Given the description of an element on the screen output the (x, y) to click on. 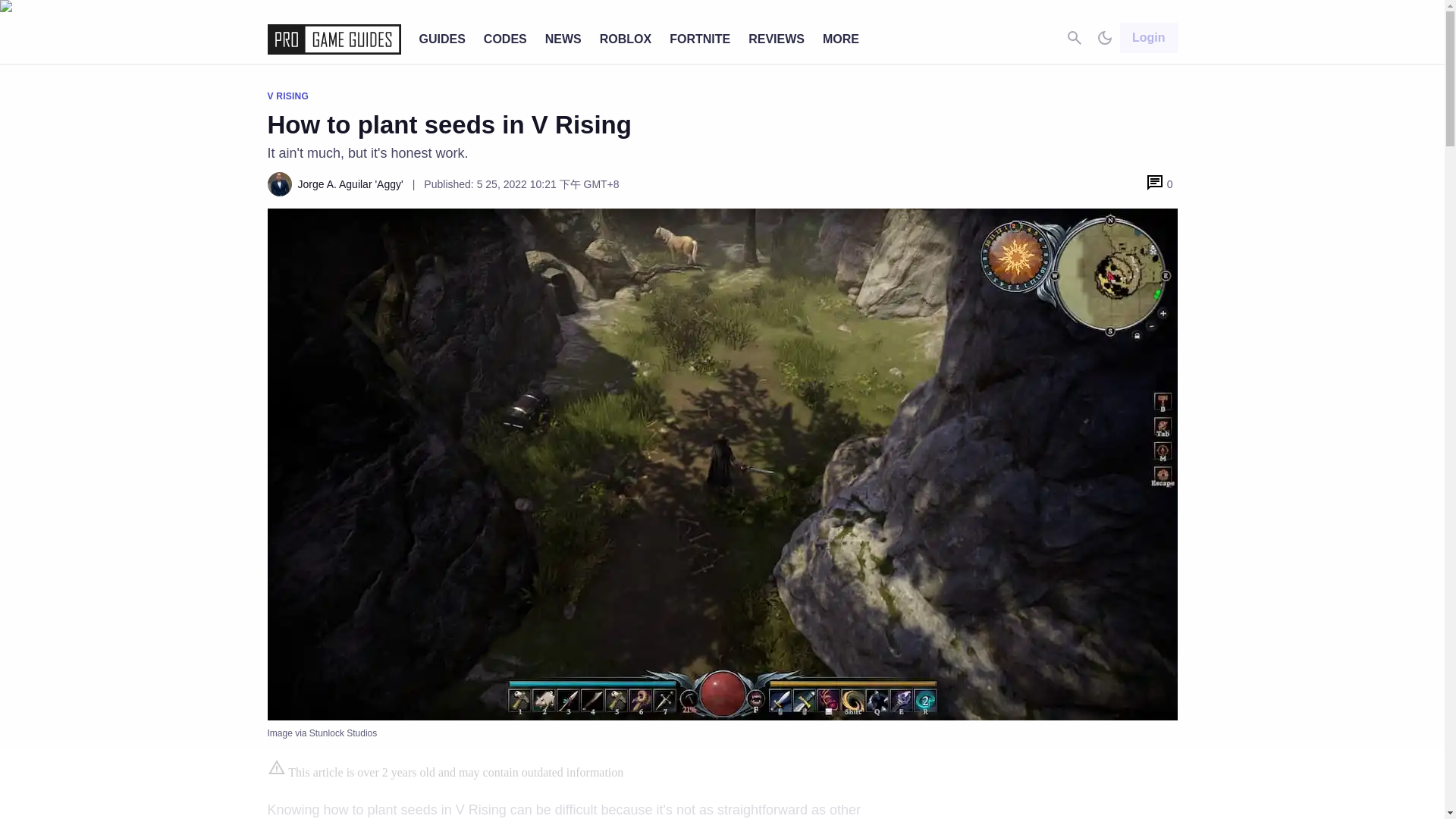
CODES (505, 38)
GUIDES (441, 38)
3rd party ad content (1062, 788)
Login (1148, 37)
NEWS (562, 38)
REVIEWS (776, 38)
Dark Mode (1104, 39)
Search (1074, 39)
FORTNITE (699, 38)
3rd party ad content (721, 785)
